Given the description of an element on the screen output the (x, y) to click on. 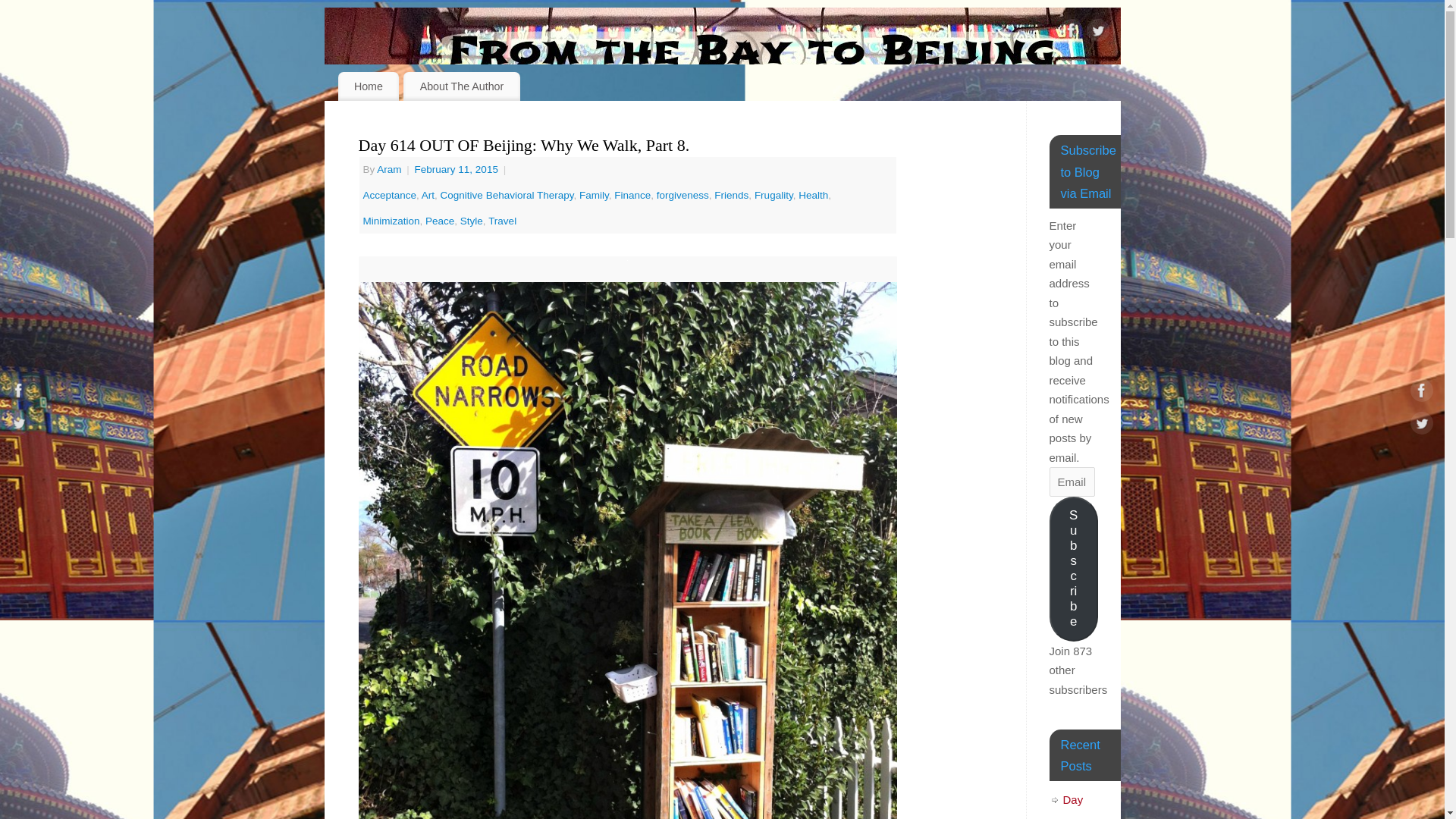
About The Author (461, 86)
Finance (632, 194)
Peace (439, 220)
forgiveness (682, 194)
Cognitive Behavioral Therapy (507, 194)
Friends (731, 194)
Home (367, 86)
Travel (501, 220)
Frugality (773, 194)
Minimization (390, 220)
10:00 am (457, 169)
Art (427, 194)
View all posts by Aram (389, 169)
Aram (389, 169)
Acceptance (389, 194)
